Given the description of an element on the screen output the (x, y) to click on. 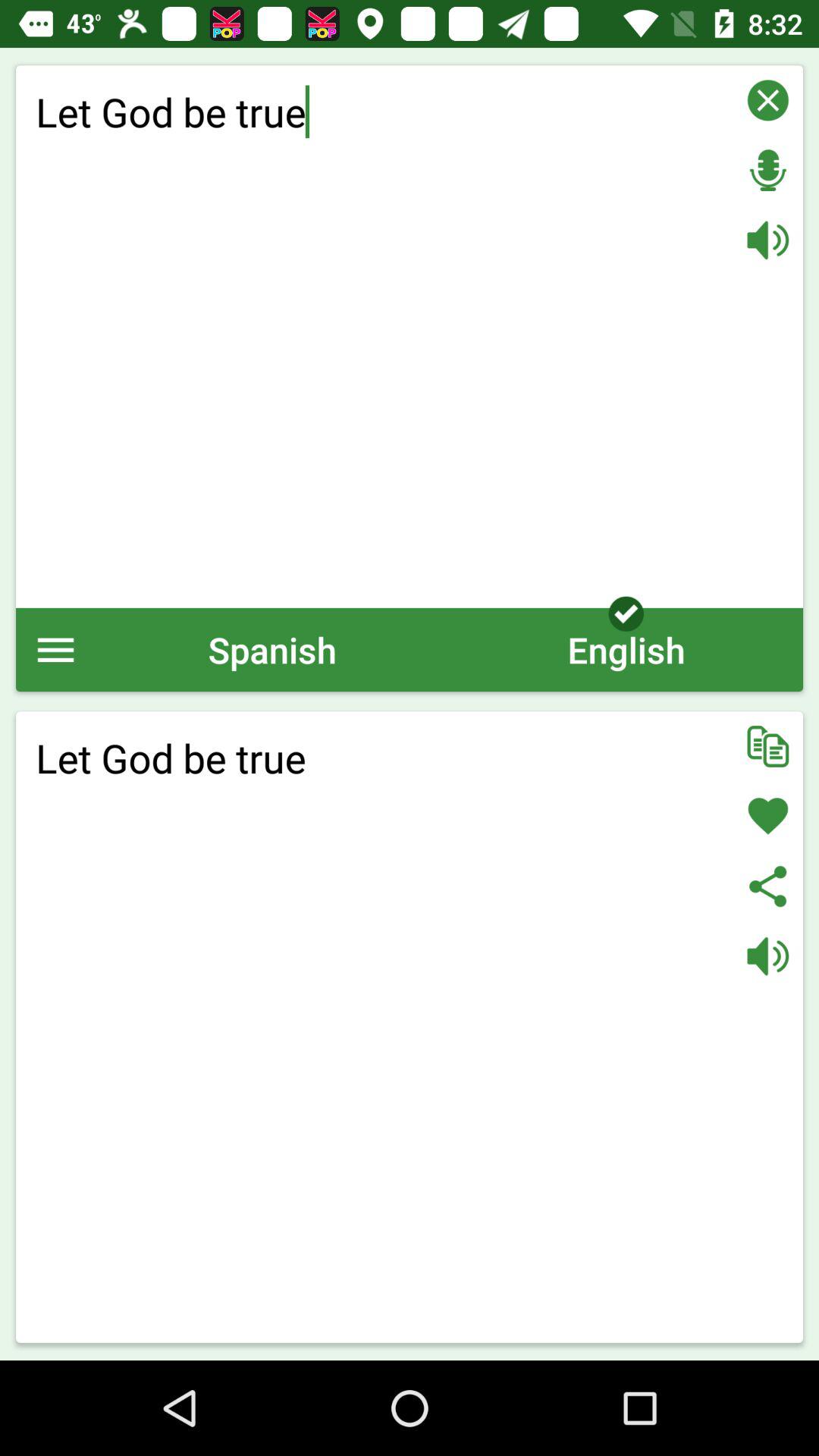
like the text (768, 816)
